Given the description of an element on the screen output the (x, y) to click on. 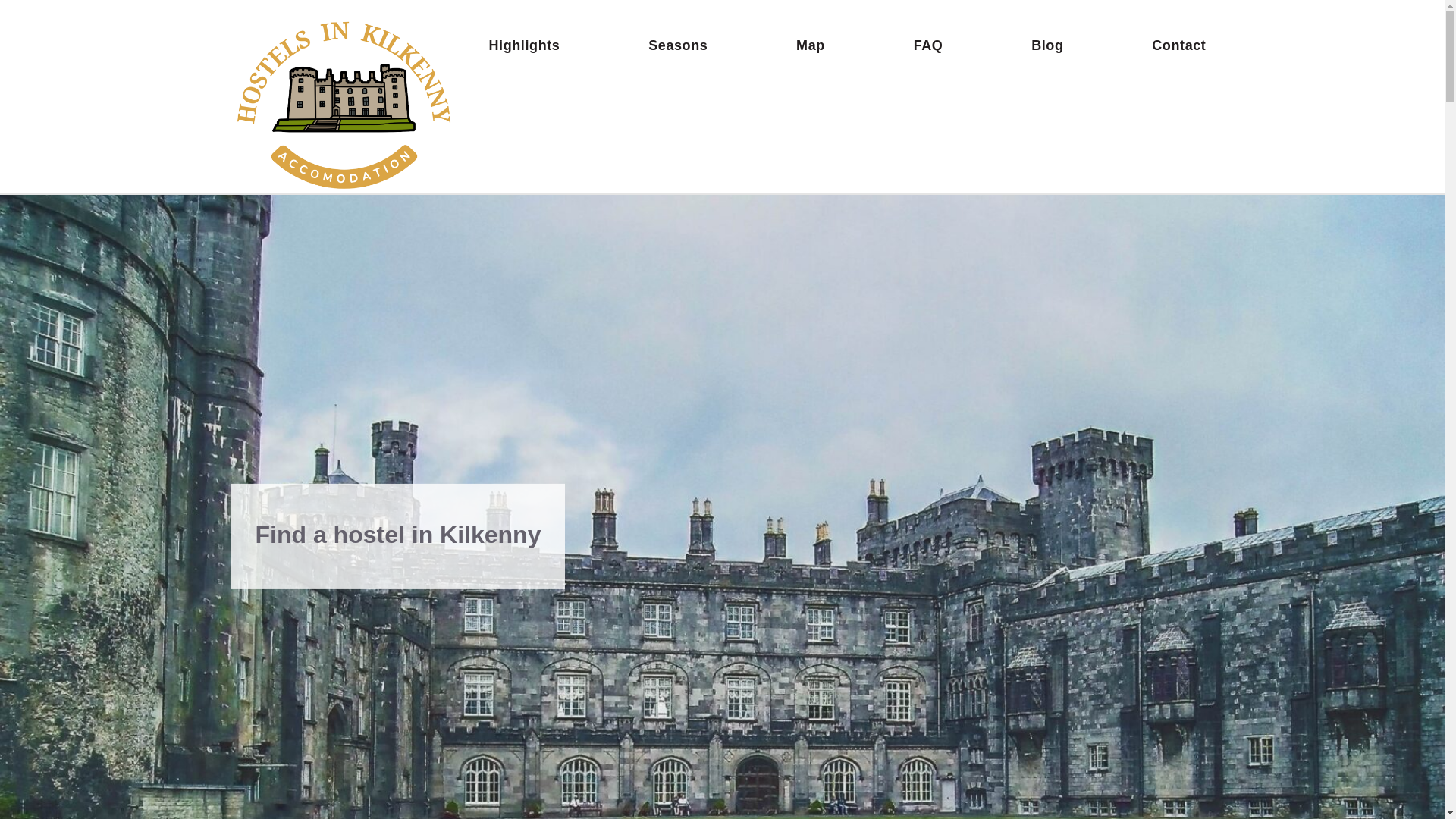
FAQ (927, 45)
Blog (1046, 45)
Contact (1178, 45)
Seasons (677, 45)
Hostels Kilkenny (346, 102)
Map (810, 45)
Highlights (523, 45)
